Given the description of an element on the screen output the (x, y) to click on. 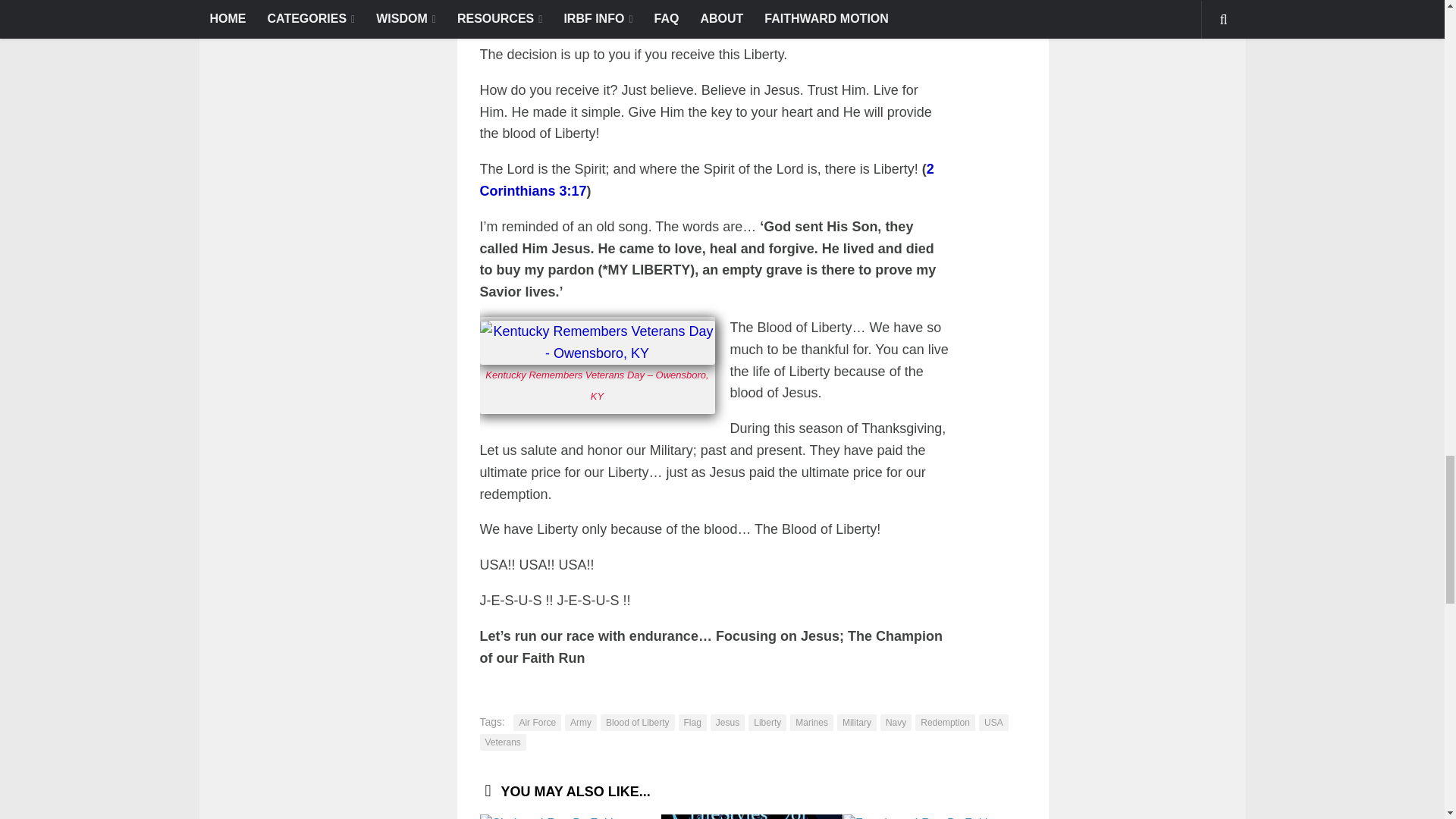
LifeStyles Of Deception (752, 816)
Freedom (934, 816)
